Given the description of an element on the screen output the (x, y) to click on. 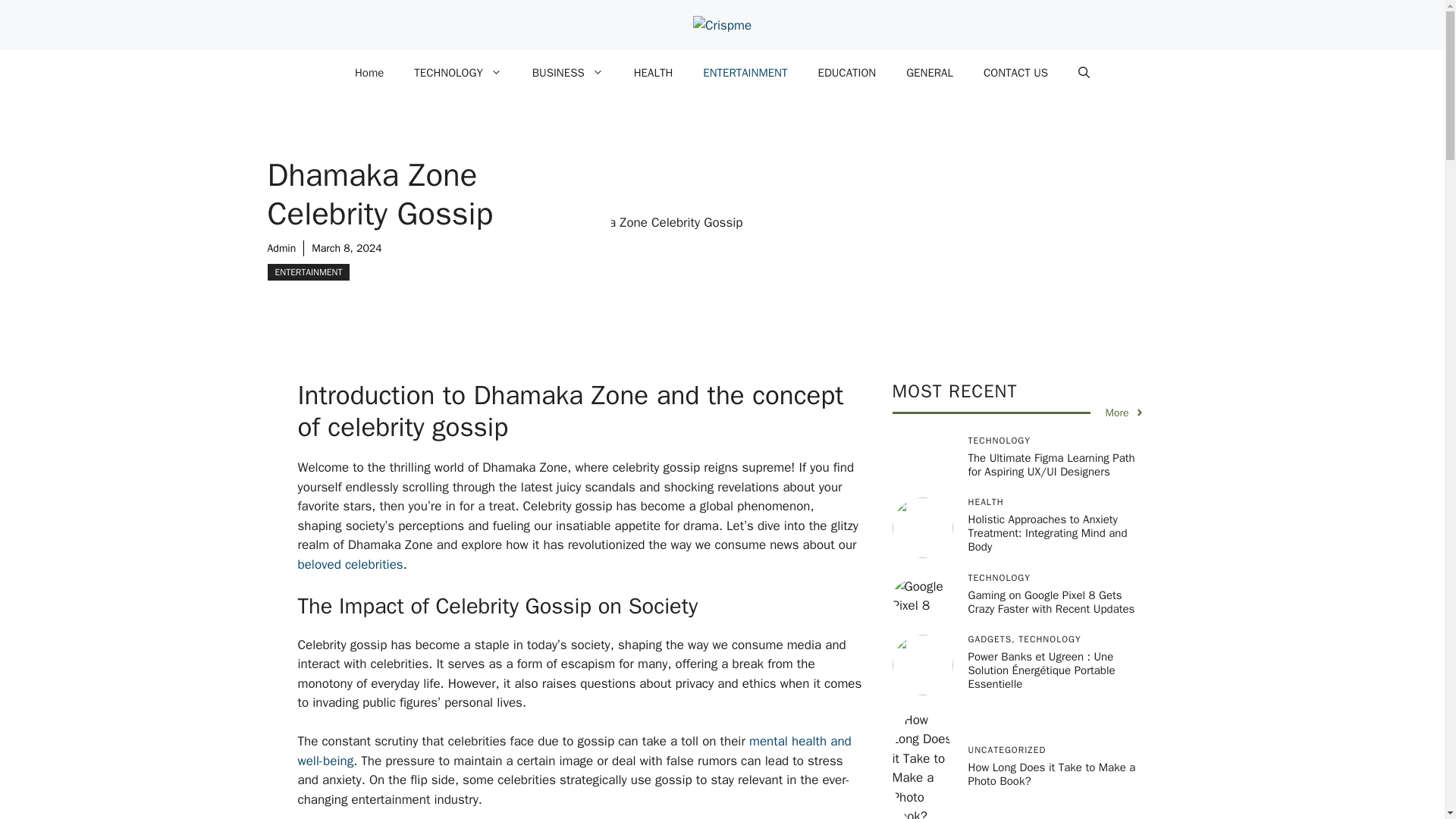
CONTACT US (1015, 72)
mental health and well-being (573, 751)
BUSINESS (567, 72)
ENTERTAINMENT (744, 72)
HEALTH (653, 72)
TECHNOLOGY (457, 72)
Admin (280, 247)
beloved celebrities (350, 564)
ENTERTAINMENT (307, 271)
GENERAL (929, 72)
Home (368, 72)
EDUCATION (846, 72)
